Given the description of an element on the screen output the (x, y) to click on. 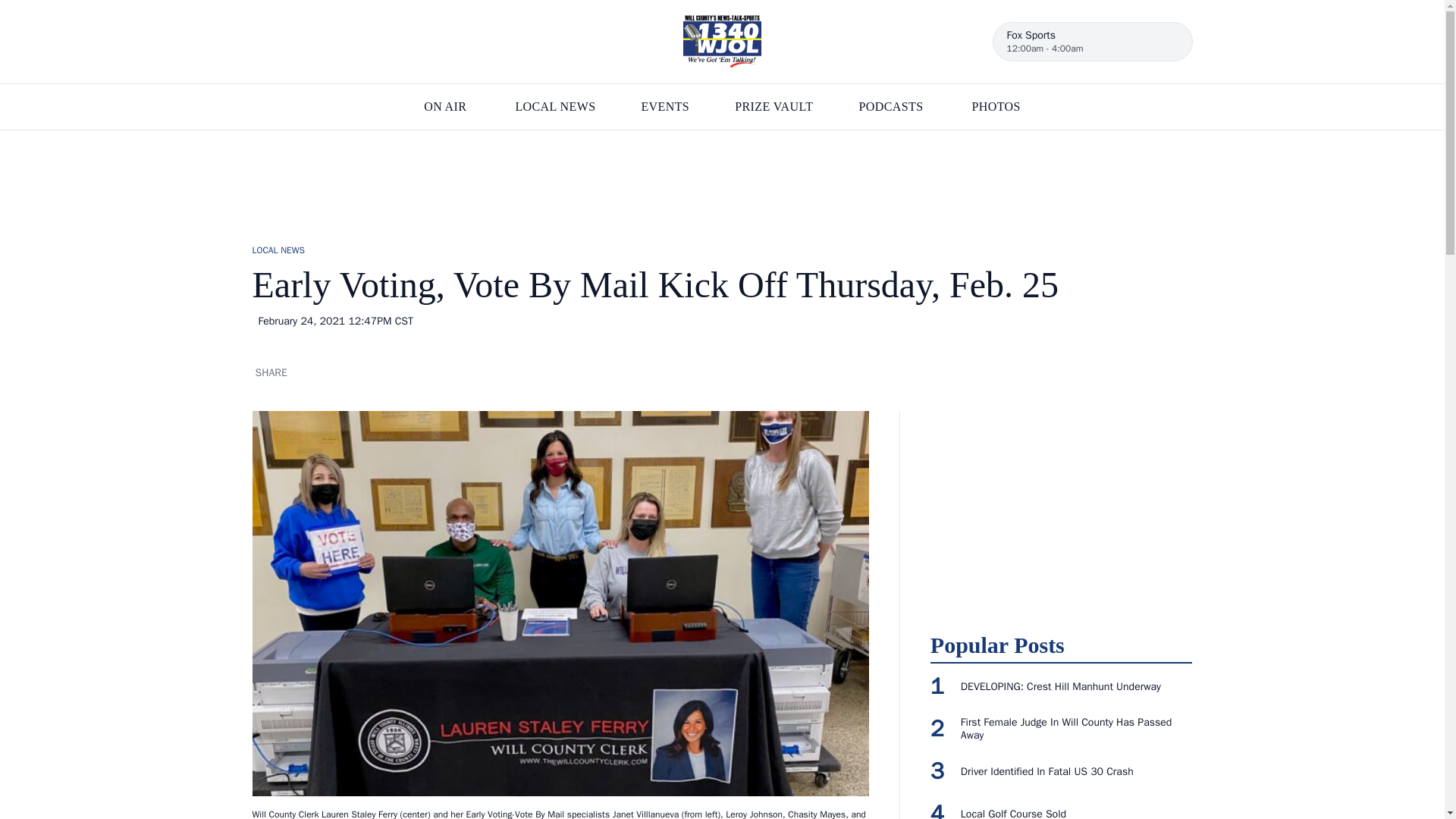
3rd party ad content (1060, 505)
3rd party ad content (721, 179)
